Given the description of an element on the screen output the (x, y) to click on. 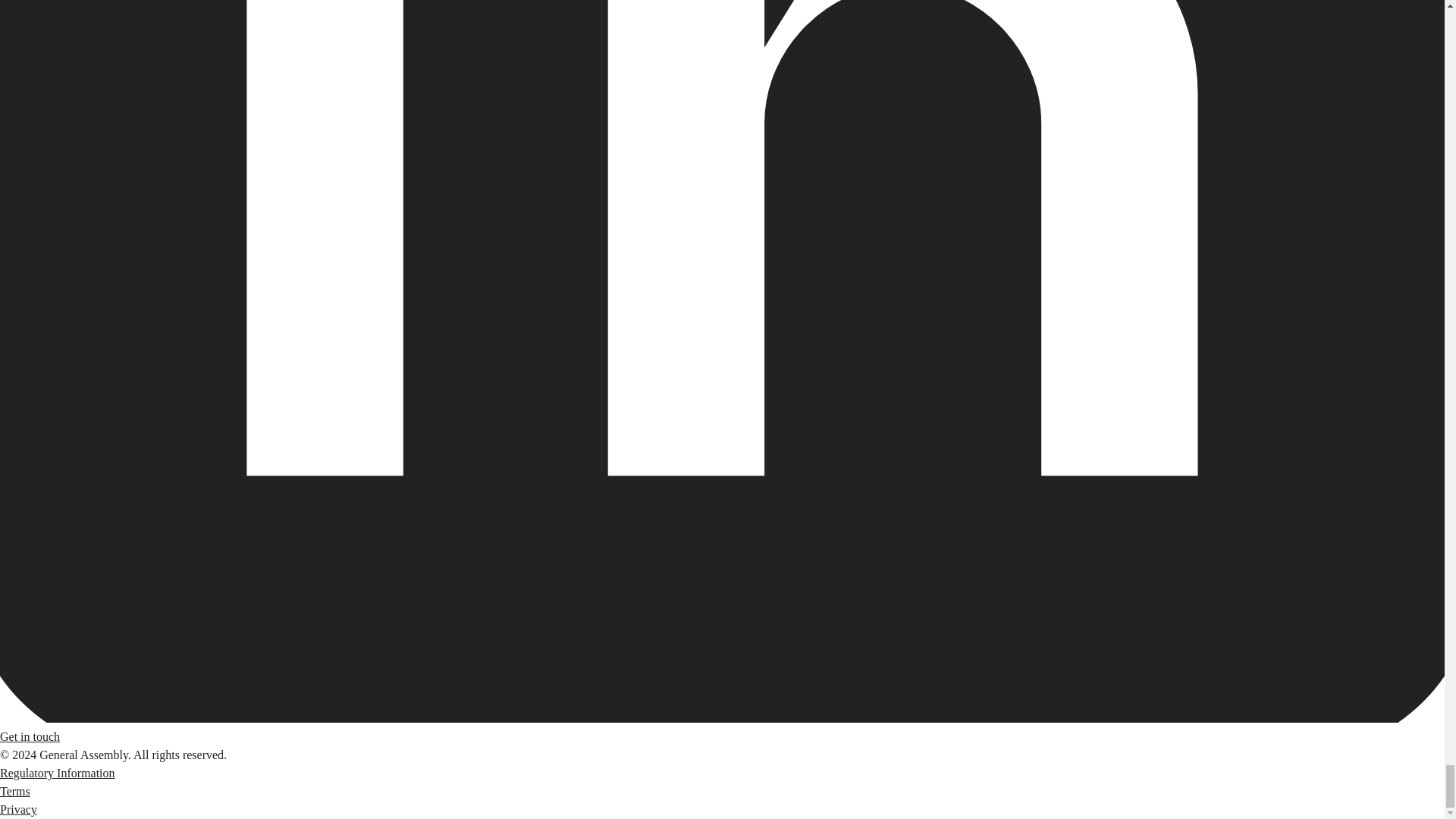
Regulatory Information (57, 772)
Get in touch (29, 736)
Terms (15, 790)
